Given the description of an element on the screen output the (x, y) to click on. 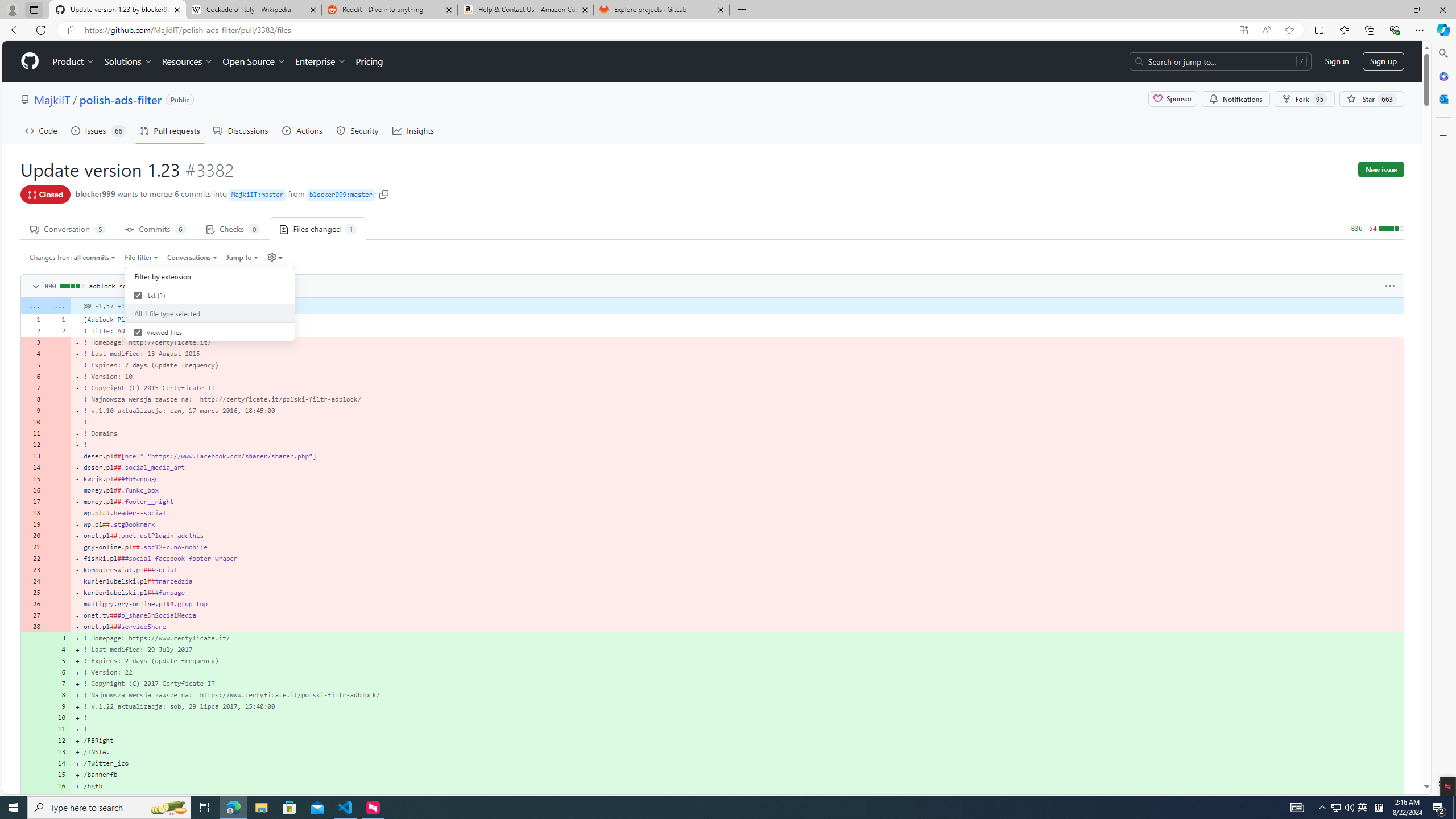
- ! Homepage: http://certyficate.it/ (737, 342)
Original file line number (35, 316)
You must be signed in to change notification settings (1235, 98)
25 (33, 592)
@@ -1,57 +1,839 @@ (737, 305)
Security (357, 130)
20 (33, 535)
- komputerswiat.pl###social (737, 569)
+ ! Expires: 2 days (update frequency)  (737, 660)
15 (58, 774)
